Given the description of an element on the screen output the (x, y) to click on. 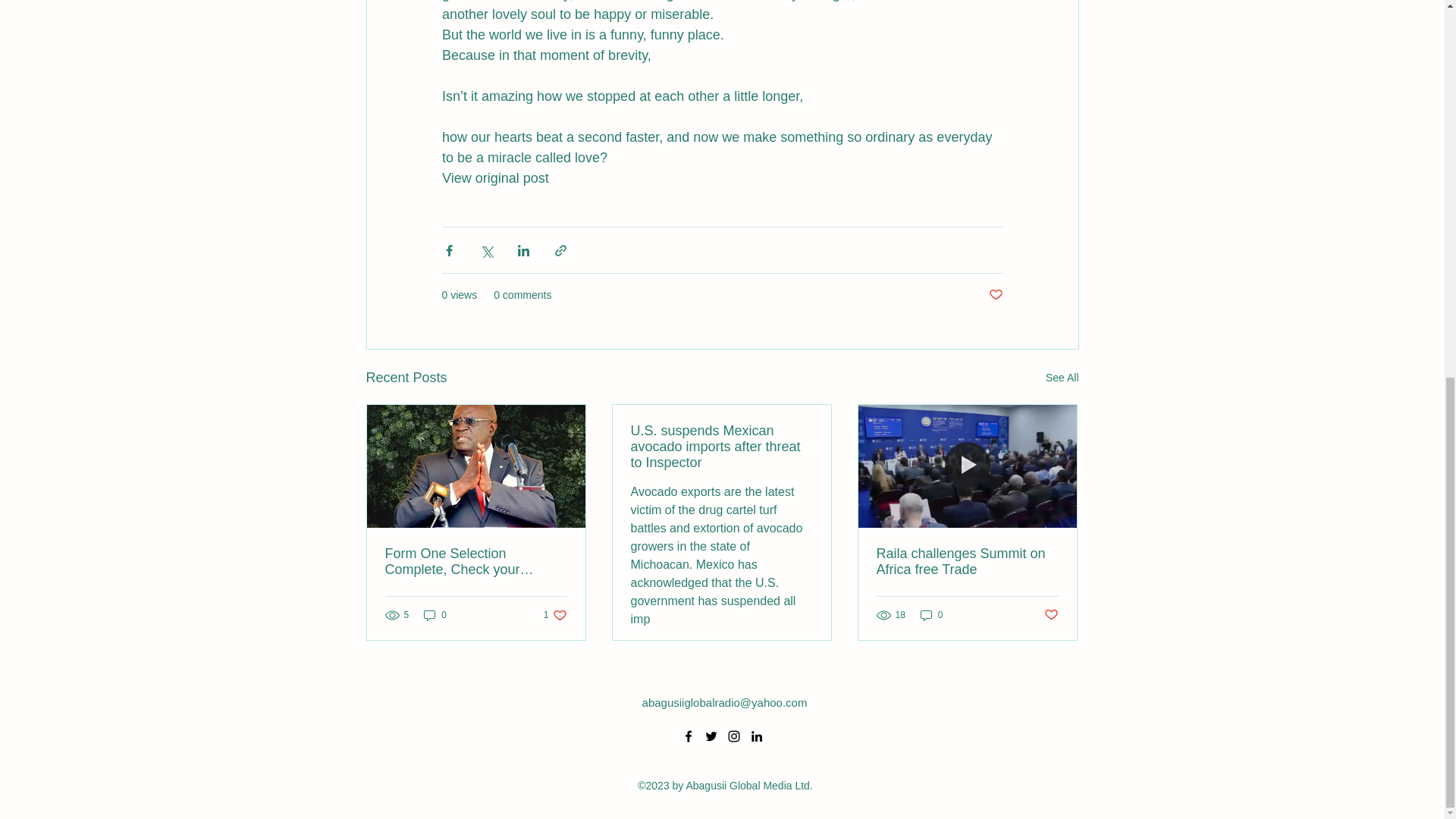
Post not marked as liked (995, 295)
View original post (494, 177)
See All (1061, 377)
